Given the description of an element on the screen output the (x, y) to click on. 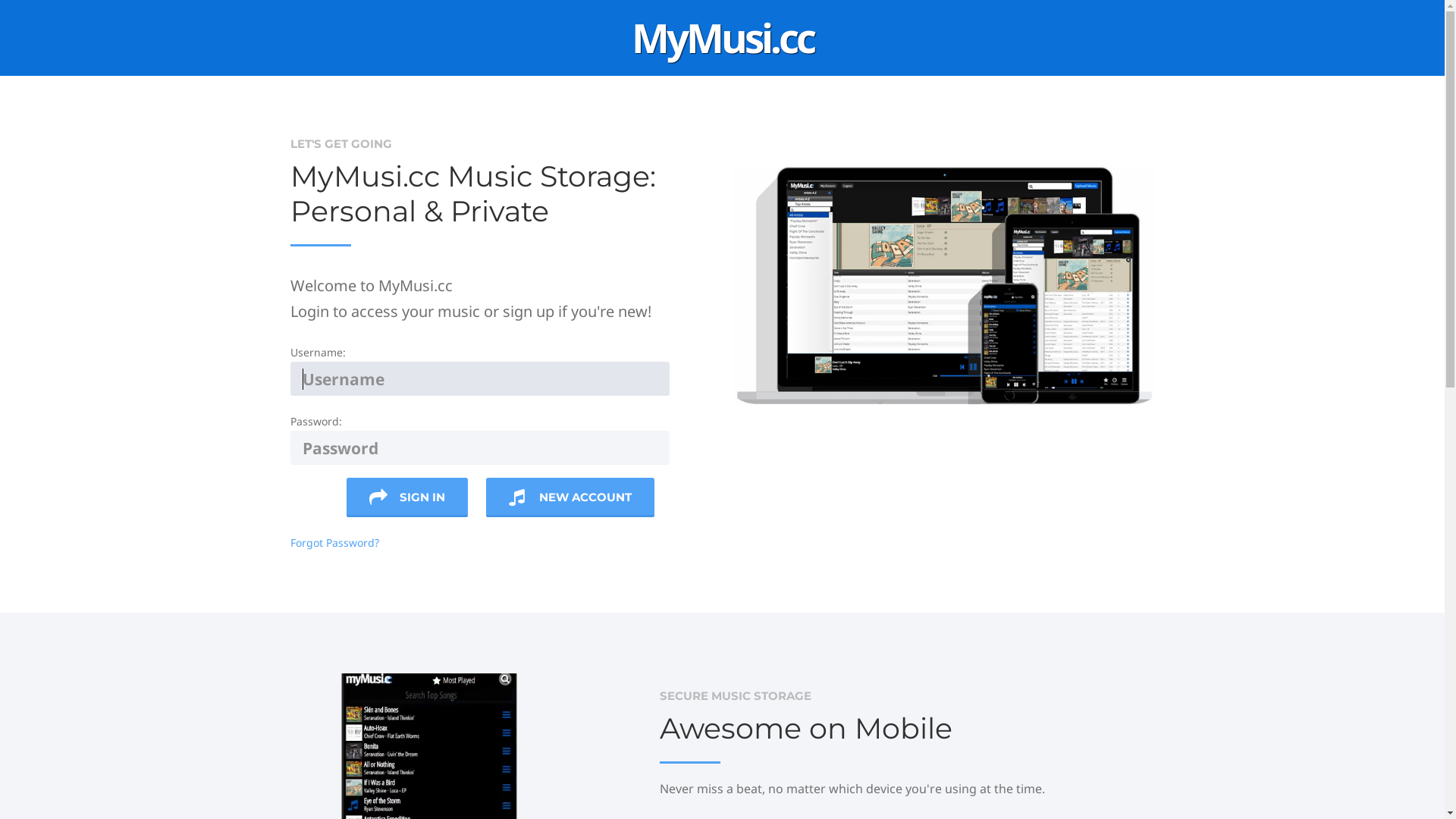
SIGN IN Element type: text (406, 497)
NEW ACCOUNT Element type: text (570, 497)
Forgot Password? Element type: text (333, 542)
MyMusi.cc Element type: text (721, 37)
